Given the description of an element on the screen output the (x, y) to click on. 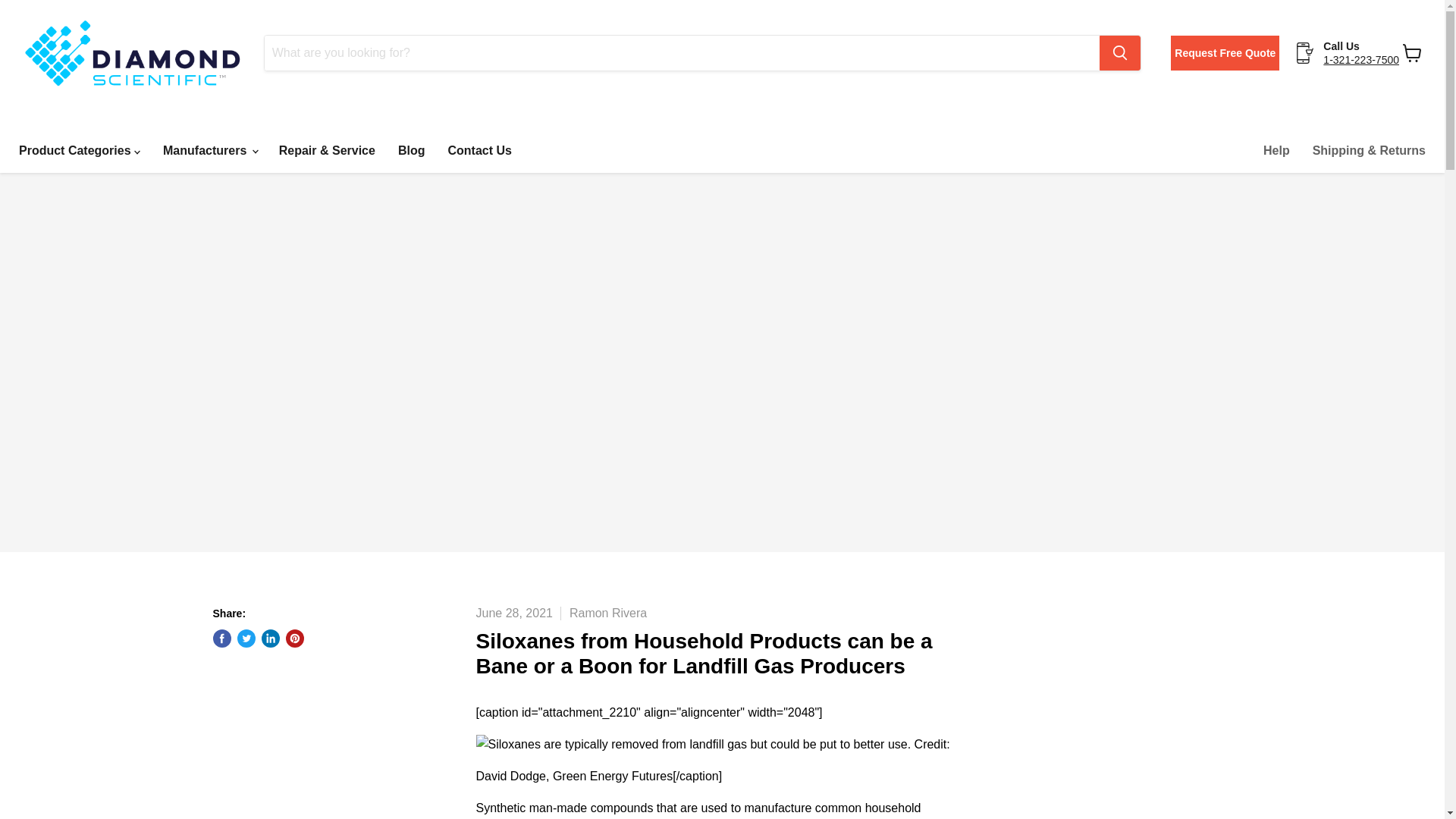
View cart (1411, 52)
1-321-223-7500 (1361, 60)
Request Free Quote (1224, 53)
Request Free Quote (1232, 53)
